Given the description of an element on the screen output the (x, y) to click on. 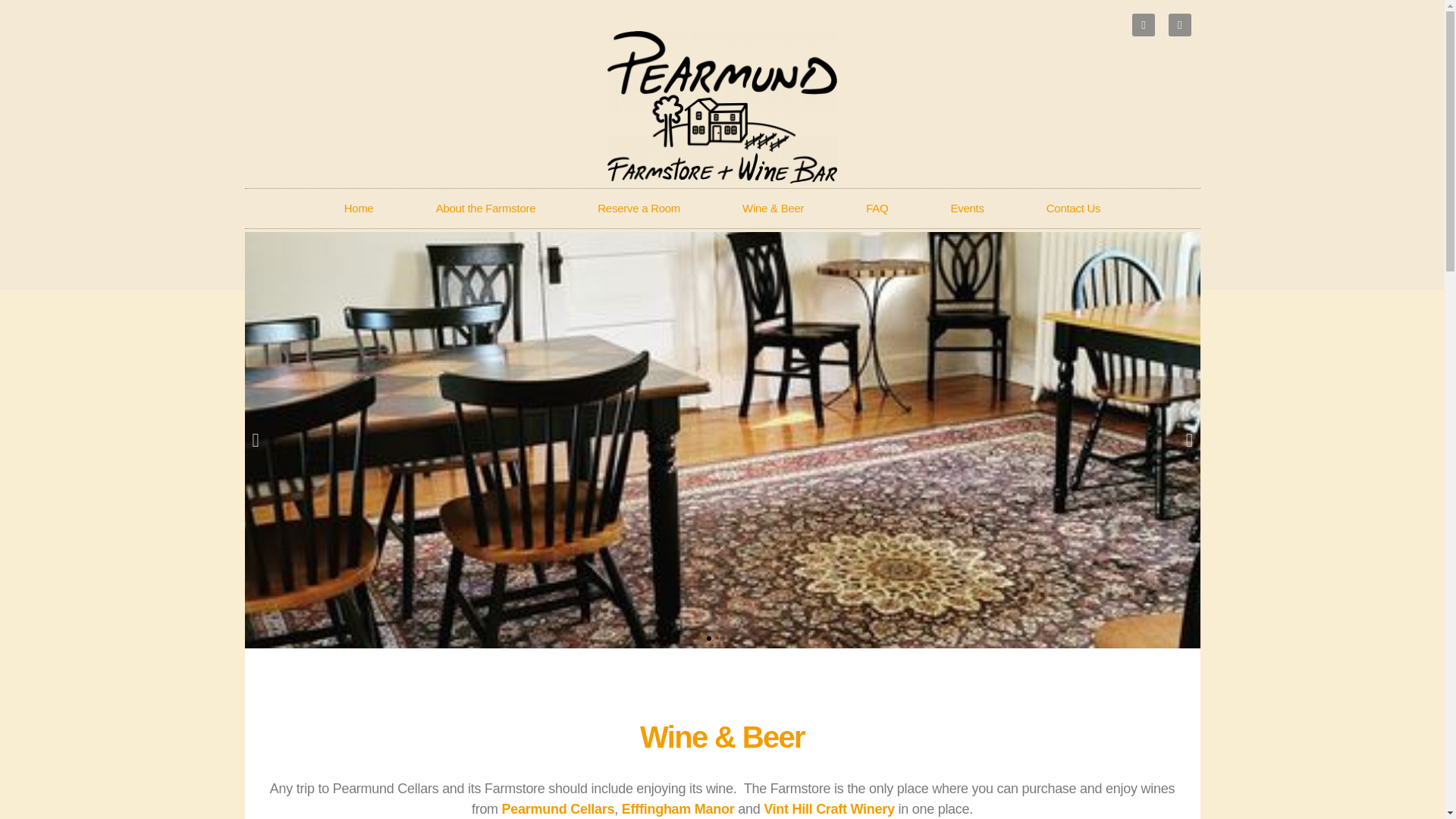
Home (358, 208)
Vint Hill Craft Winery (828, 808)
Efffingham Manor (678, 808)
About the Farmstore (485, 208)
Contact Us (1073, 208)
Pearmund Cellars (555, 808)
Events (966, 208)
Reserve a Room (638, 208)
FAQ (876, 208)
